Given the description of an element on the screen output the (x, y) to click on. 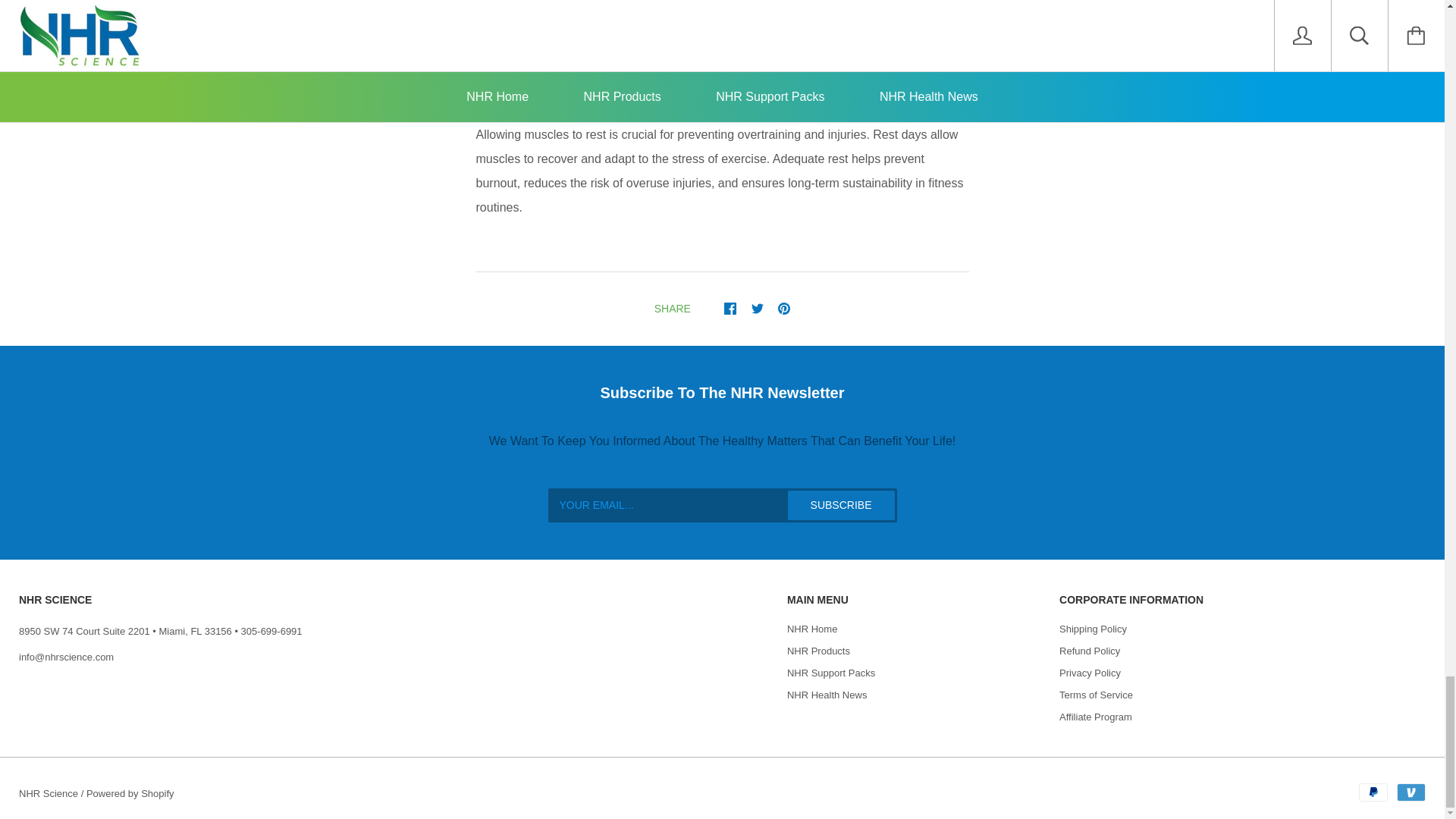
Subscribe (841, 505)
PayPal (1372, 791)
Venmo (1410, 791)
